Given the description of an element on the screen output the (x, y) to click on. 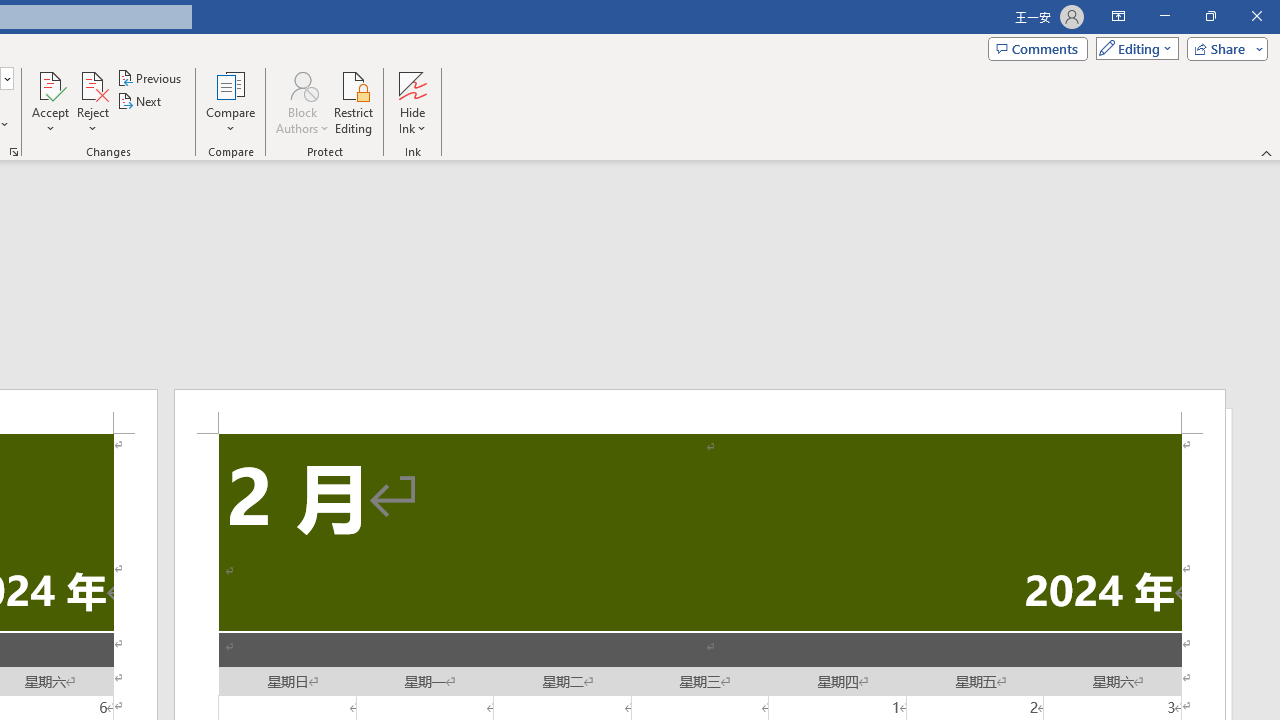
Accept and Move to Next (50, 84)
Accept (50, 102)
Restrict Editing (353, 102)
Header -Section 2- (700, 411)
Hide Ink (412, 84)
Compare (230, 102)
Change Tracking Options... (13, 151)
